Given the description of an element on the screen output the (x, y) to click on. 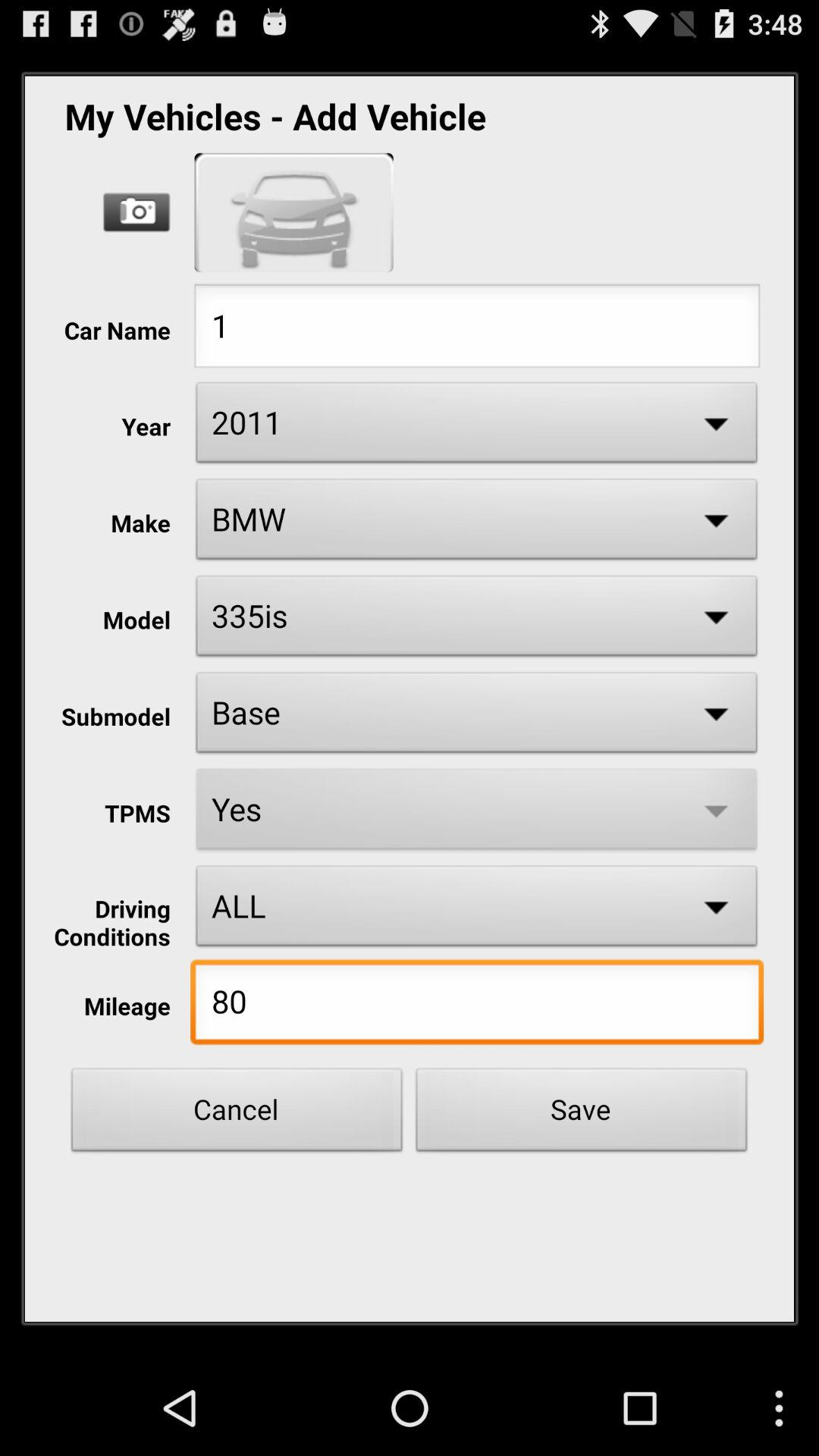
add vehicle (293, 212)
